Given the description of an element on the screen output the (x, y) to click on. 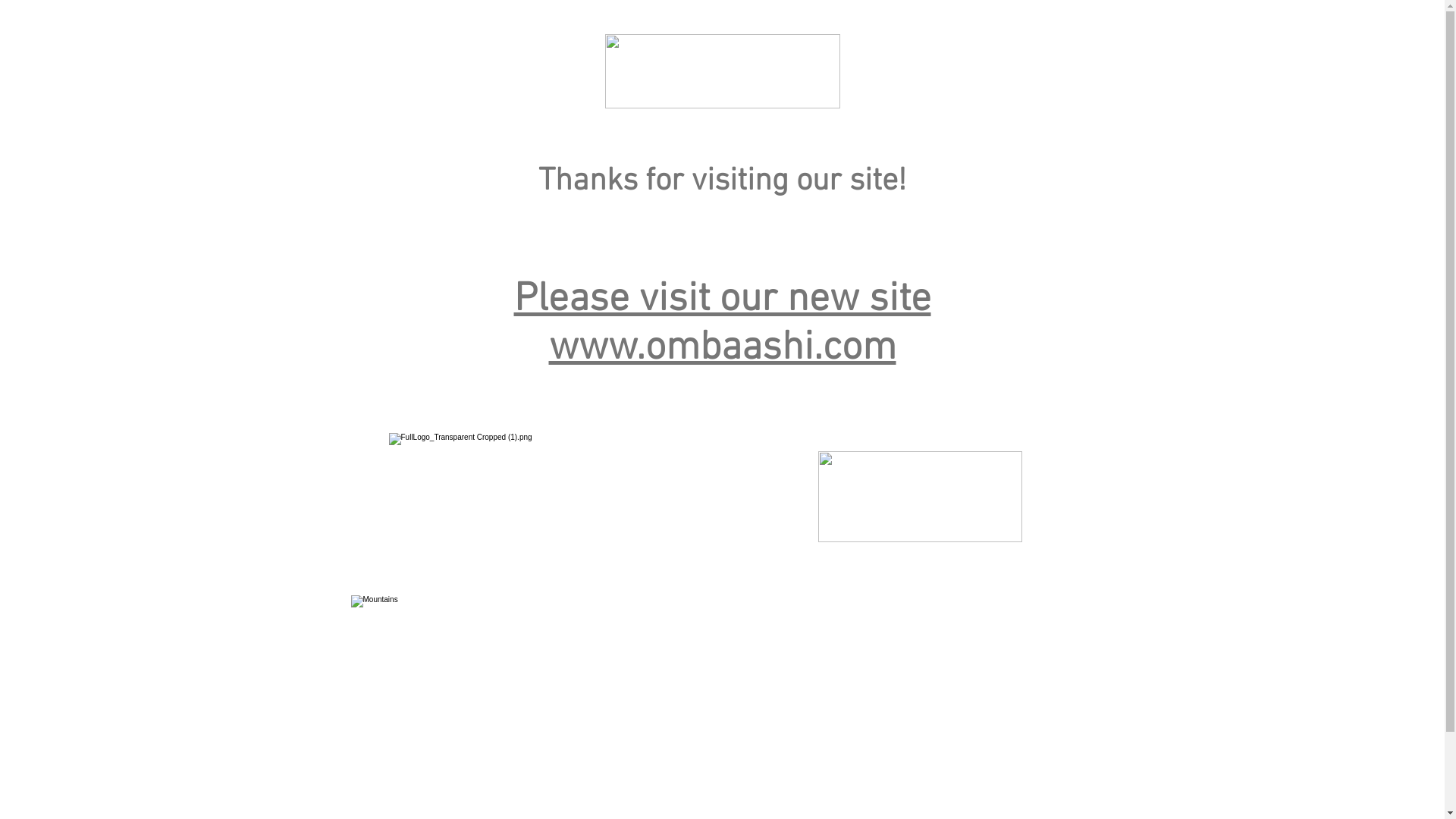
Please visit our new site www.ombaashi.com Element type: text (722, 324)
Picture3.png Element type: hover (722, 71)
CCAB member logo-web (1).png Element type: hover (919, 496)
